Given the description of an element on the screen output the (x, y) to click on. 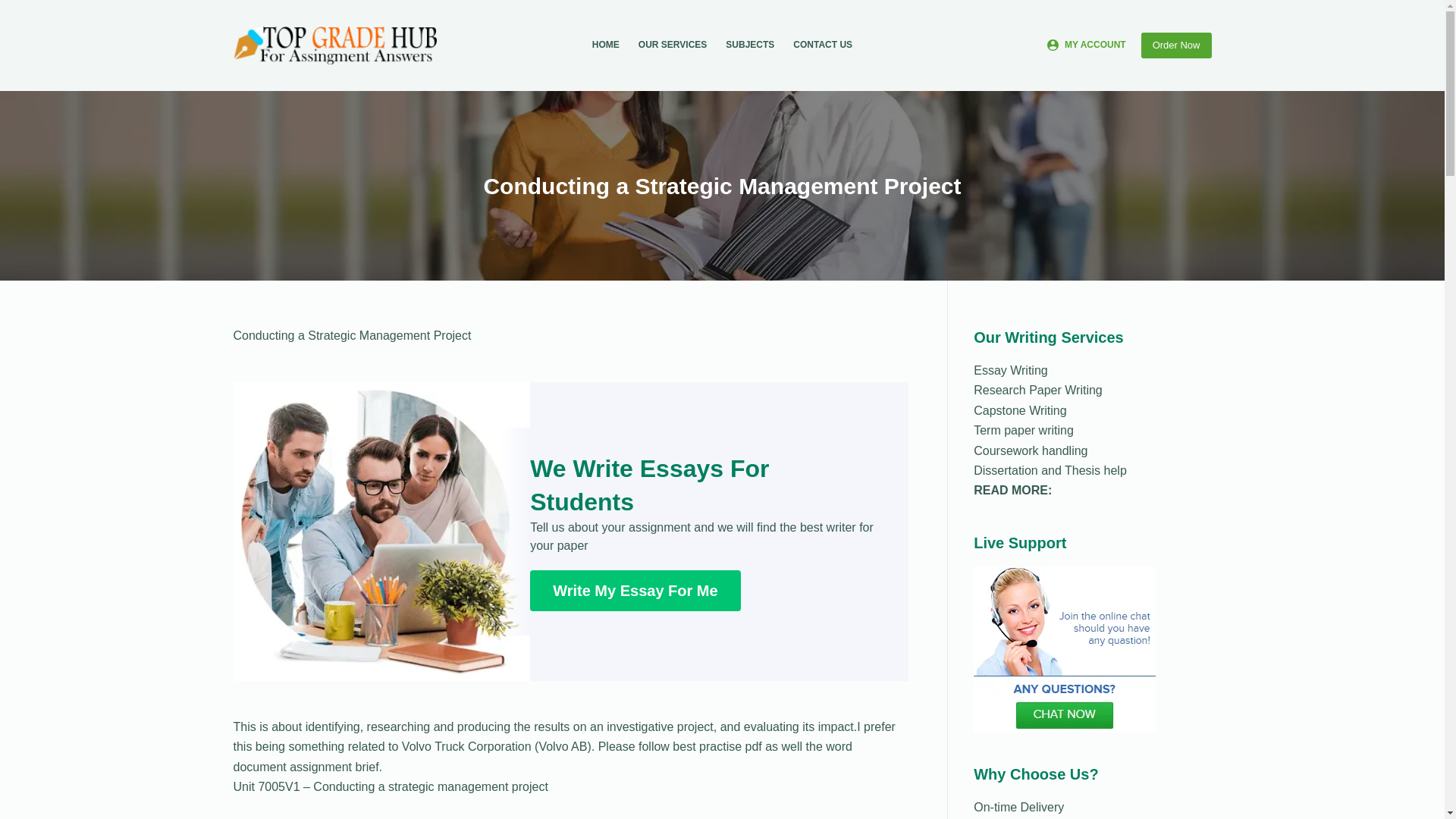
Order Now (1176, 45)
Conducting a Strategic Management Project (722, 185)
Write My Essay For Me (634, 590)
MY ACCOUNT (1085, 45)
OUR SERVICES (672, 45)
Skip to content (15, 7)
READ MORE: (1012, 490)
